Given the description of an element on the screen output the (x, y) to click on. 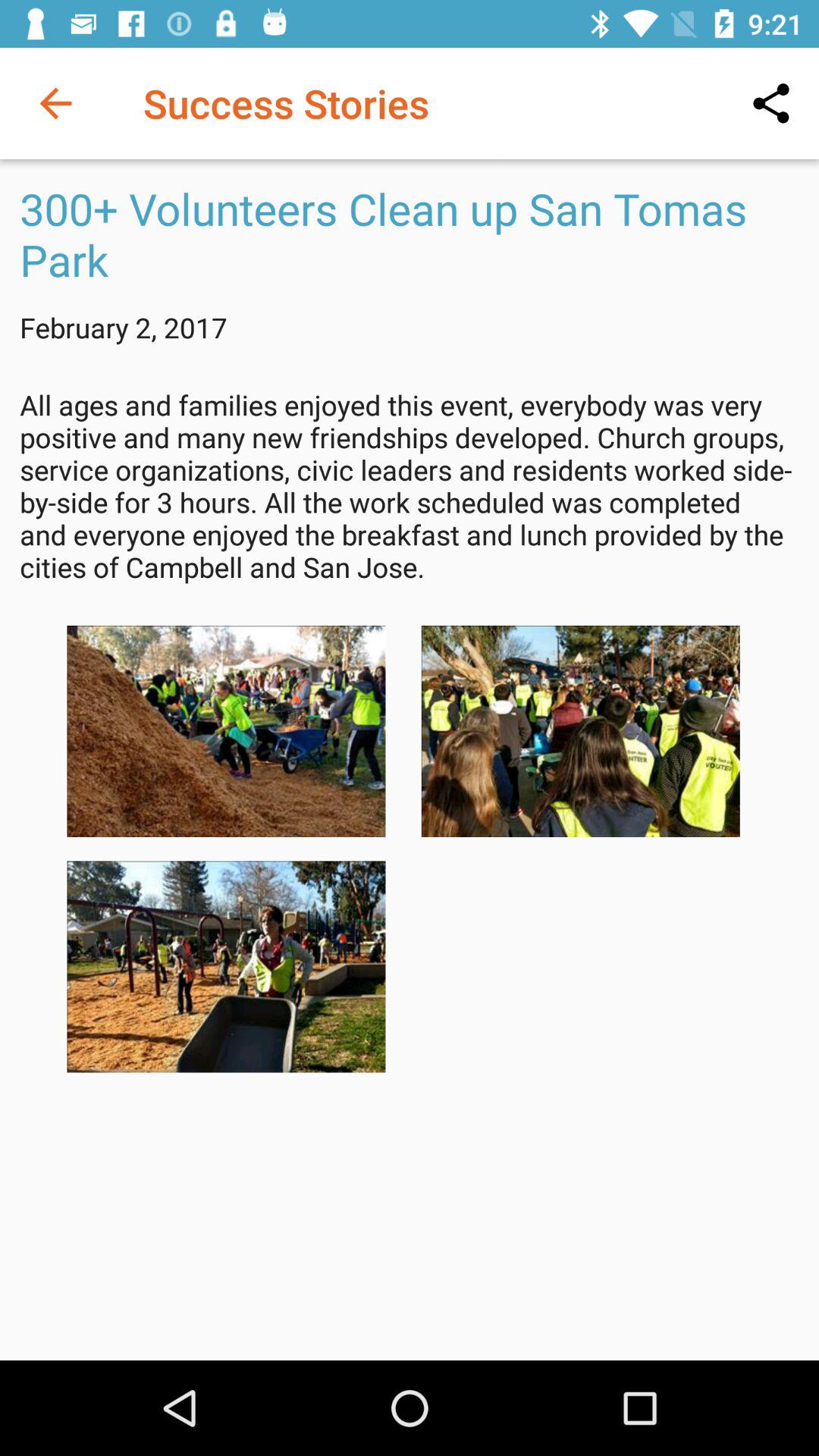
turn on item above 300 volunteers clean item (55, 103)
